Given the description of an element on the screen output the (x, y) to click on. 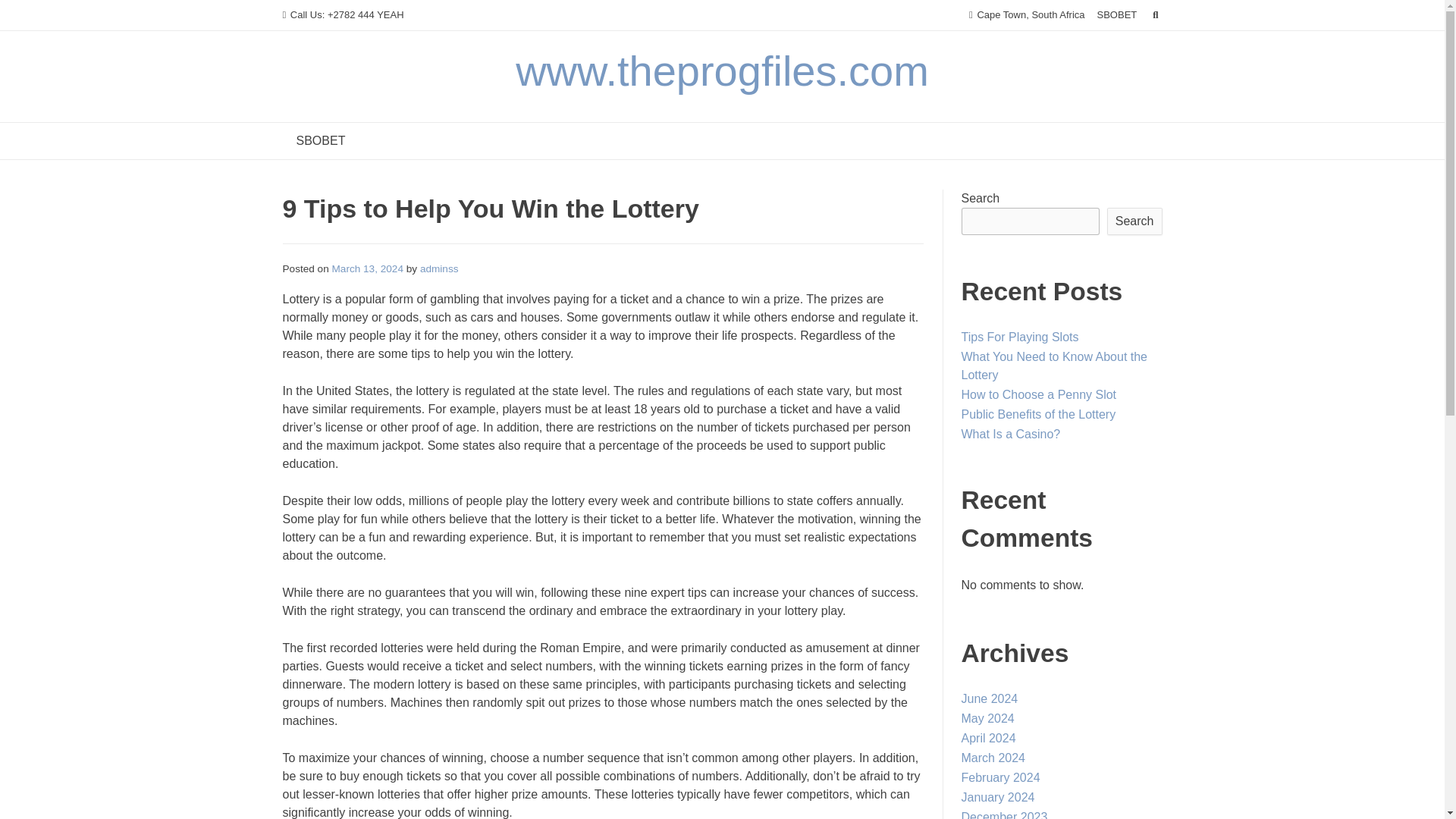
Search (27, 13)
January 2024 (997, 797)
Tips For Playing Slots (1019, 336)
February 2024 (1000, 777)
www.theprogfiles.com (721, 70)
What You Need to Know About the Lottery (1054, 365)
What Is a Casino? (1010, 433)
Public Benefits of the Lottery (1038, 413)
Search (1133, 221)
March 2024 (993, 757)
SBOBET (320, 140)
adminss (439, 268)
May 2024 (987, 717)
How to Choose a Penny Slot (1038, 394)
April 2024 (988, 738)
